Given the description of an element on the screen output the (x, y) to click on. 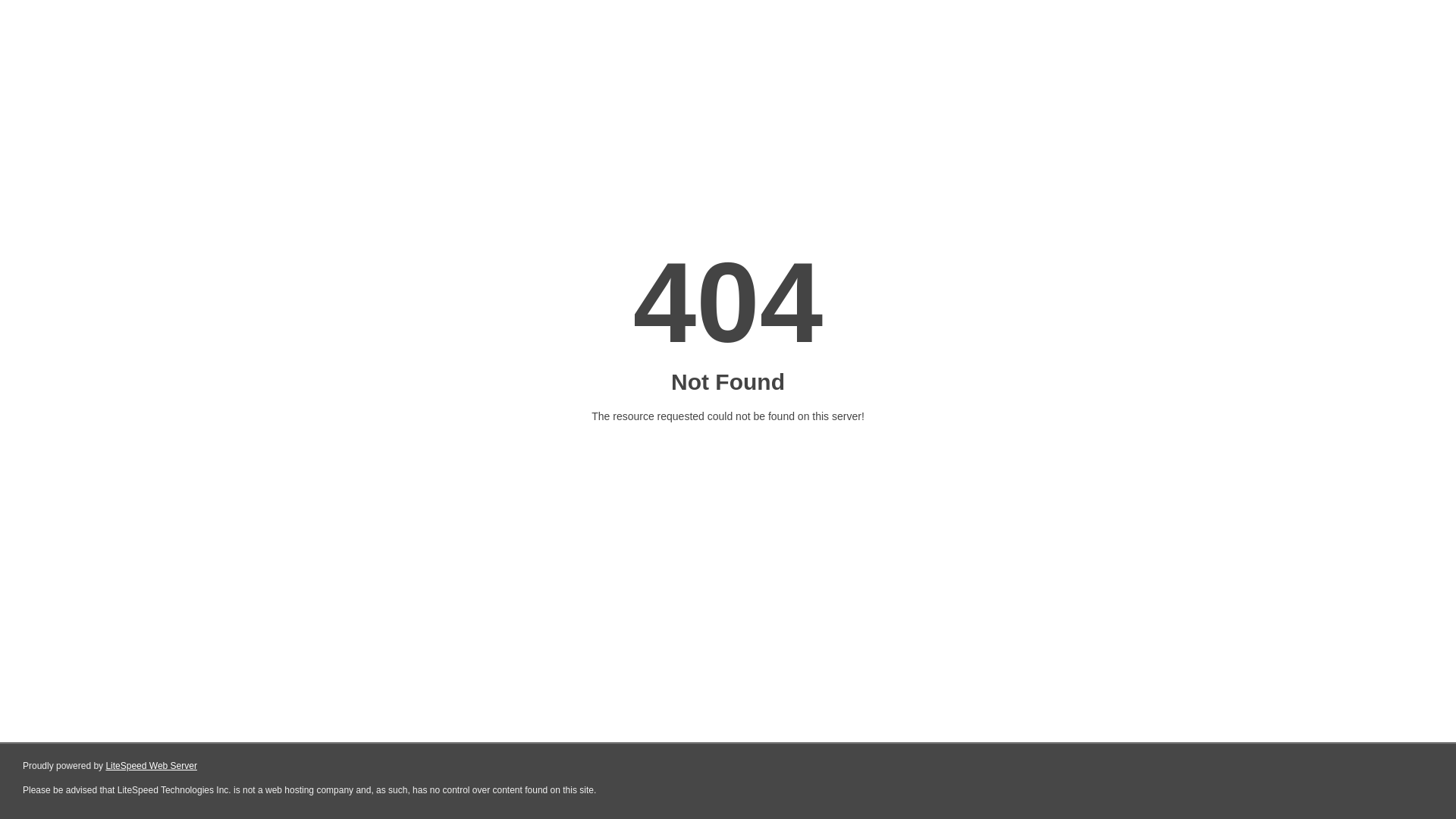
LiteSpeed Web Server Element type: text (151, 765)
